Given the description of an element on the screen output the (x, y) to click on. 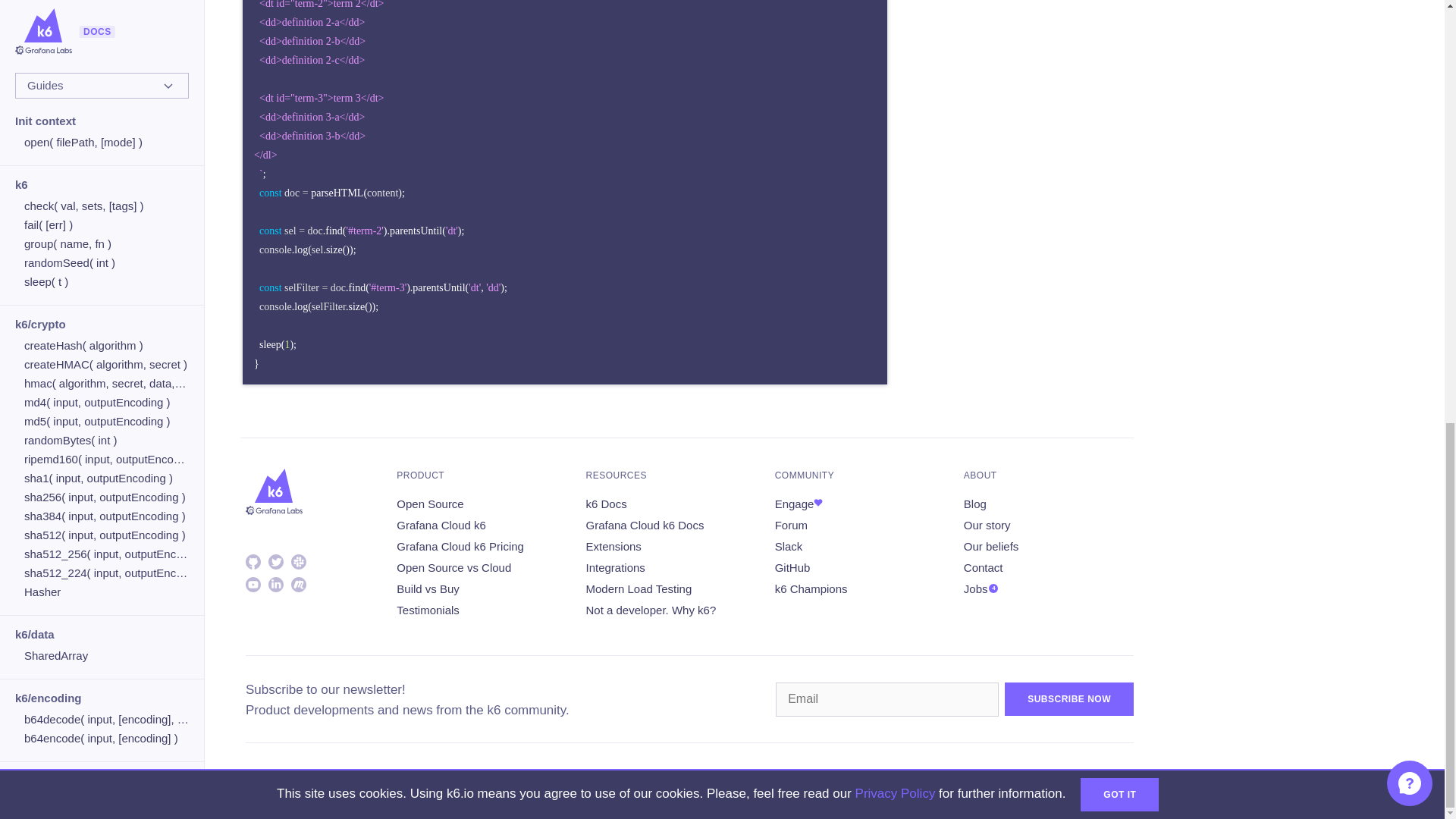
redis (106, 14)
timers (106, 32)
grpc (106, 1)
tracing (106, 52)
